Given the description of an element on the screen output the (x, y) to click on. 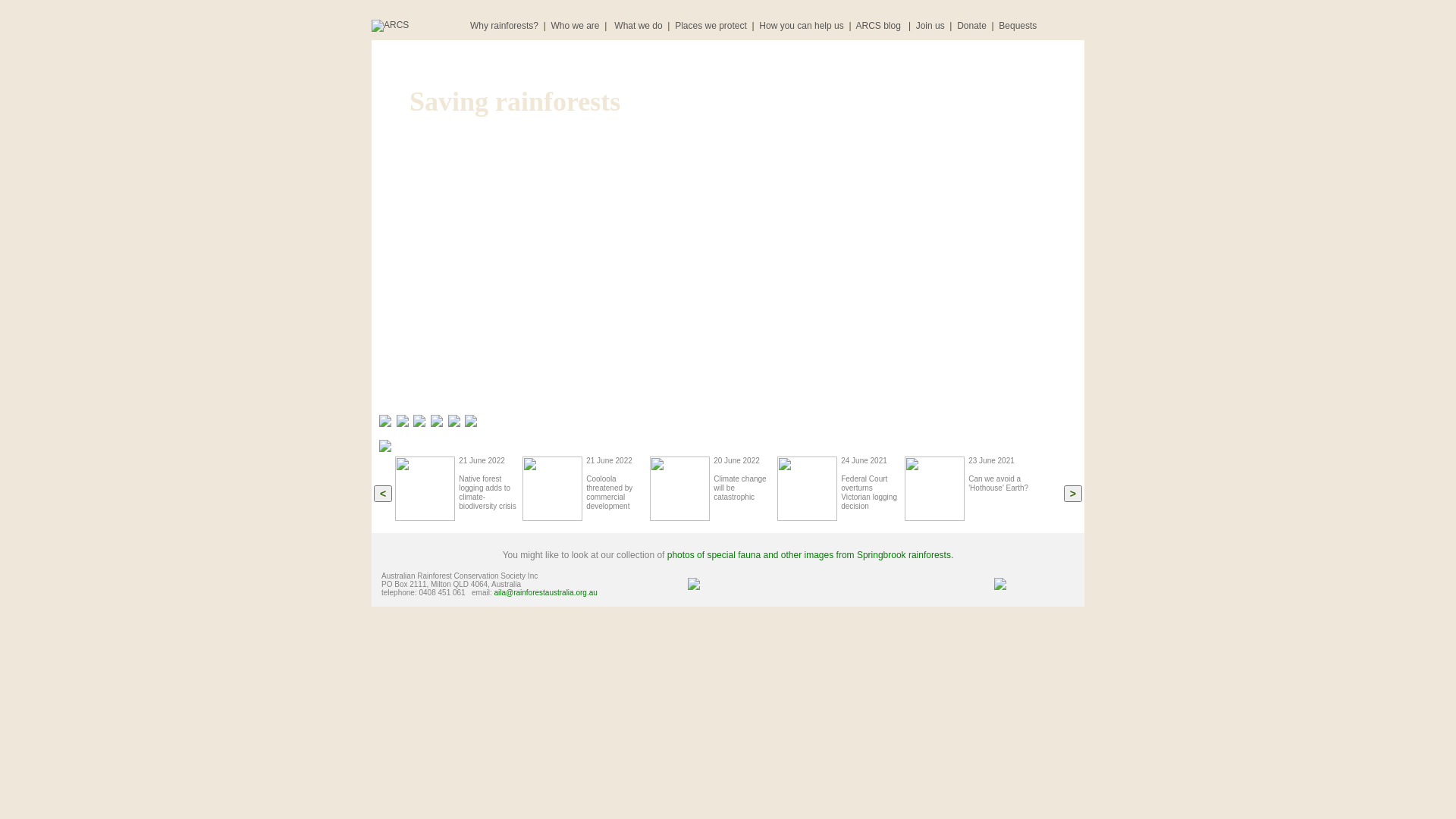
aila@rainforestaustralia.org.au Element type: text (544, 592)
Who we are Element type: text (574, 25)
< Element type: text (382, 493)
Why rainforests? Element type: text (504, 25)
Places we protect Element type: text (710, 25)
Bequests Element type: text (1017, 25)
What we do Element type: text (638, 25)
ARCS blog Element type: text (879, 25)
Donate Element type: text (971, 25)
Join us Element type: text (930, 25)
> Element type: text (1072, 493)
How you can help us Element type: text (801, 25)
